Given the description of an element on the screen output the (x, y) to click on. 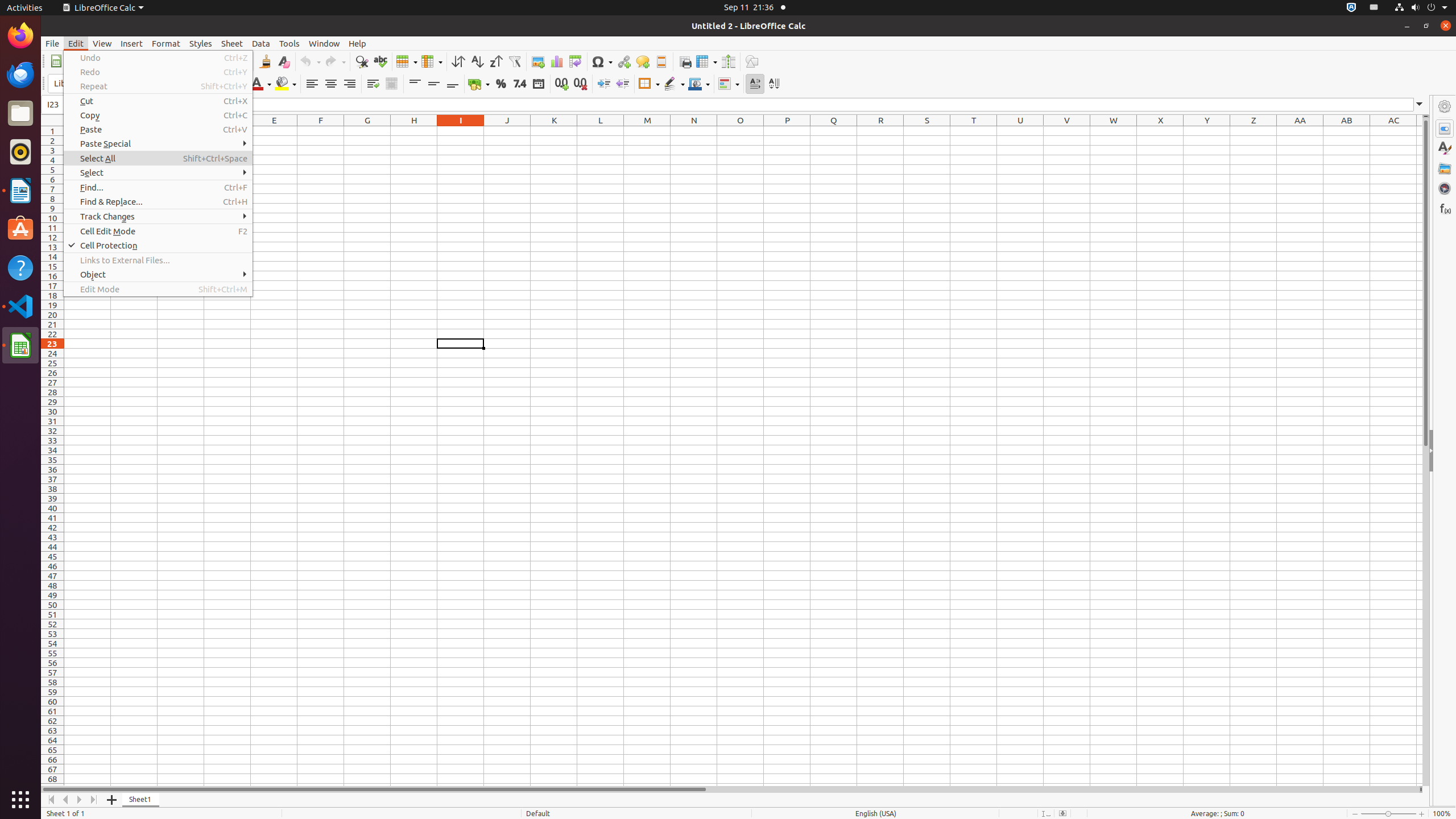
Functions Element type: radio-button (1444, 208)
Edit Mode Element type: menu-item (157, 289)
Align Bottom Element type: push-button (452, 83)
Find & Replace Element type: toggle-button (361, 61)
